Given the description of an element on the screen output the (x, y) to click on. 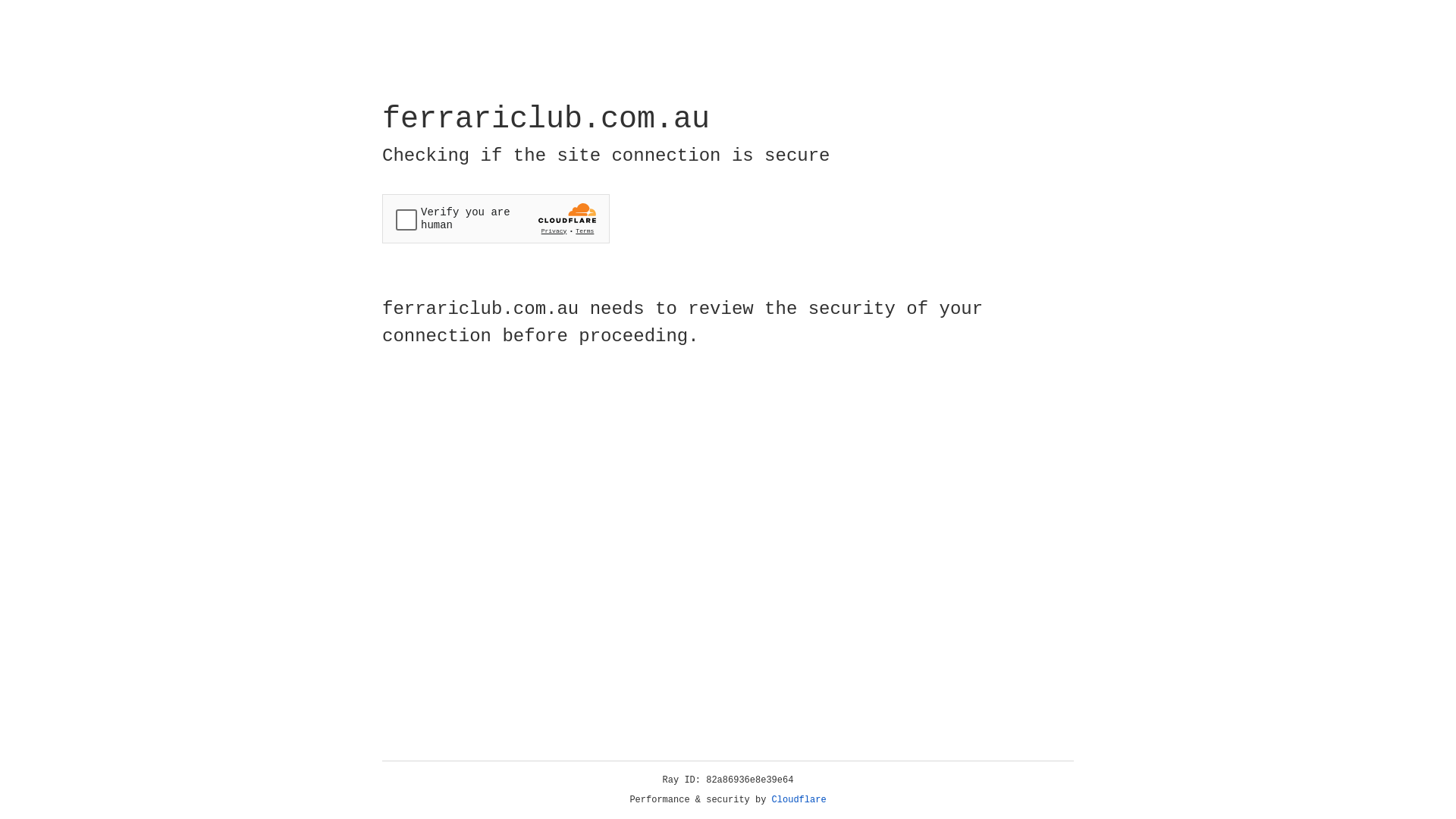
Cloudflare Element type: text (798, 799)
Widget containing a Cloudflare security challenge Element type: hover (495, 218)
